Given the description of an element on the screen output the (x, y) to click on. 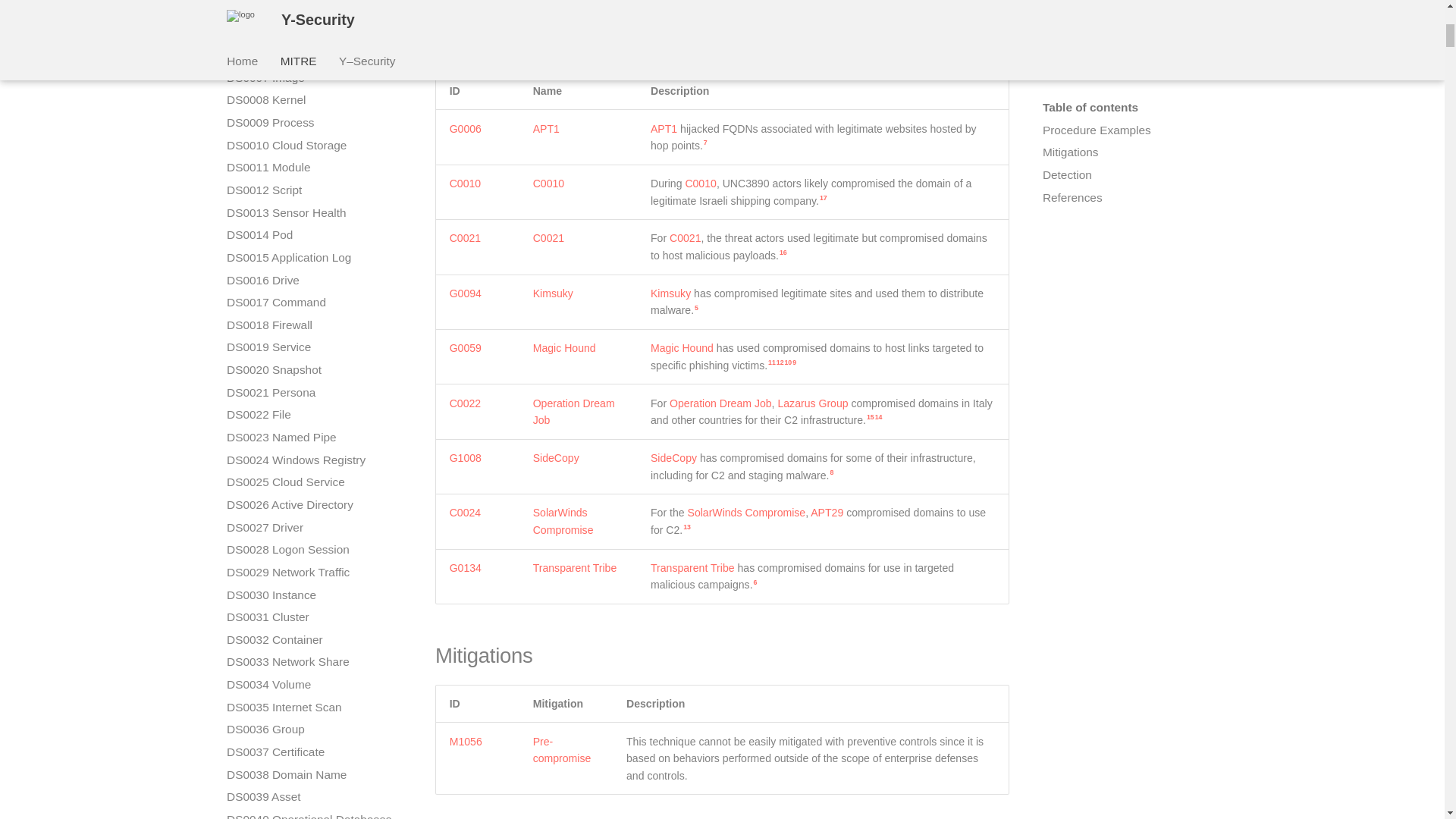
DS0007 Image (312, 77)
DS0010 Cloud Storage (312, 145)
DS0004 Malware Repository (312, 10)
DS0008 Kernel (312, 99)
DS0006 Web Credential (312, 55)
DS0005 WMI (312, 32)
DS0009 Process (312, 122)
